Given the description of an element on the screen output the (x, y) to click on. 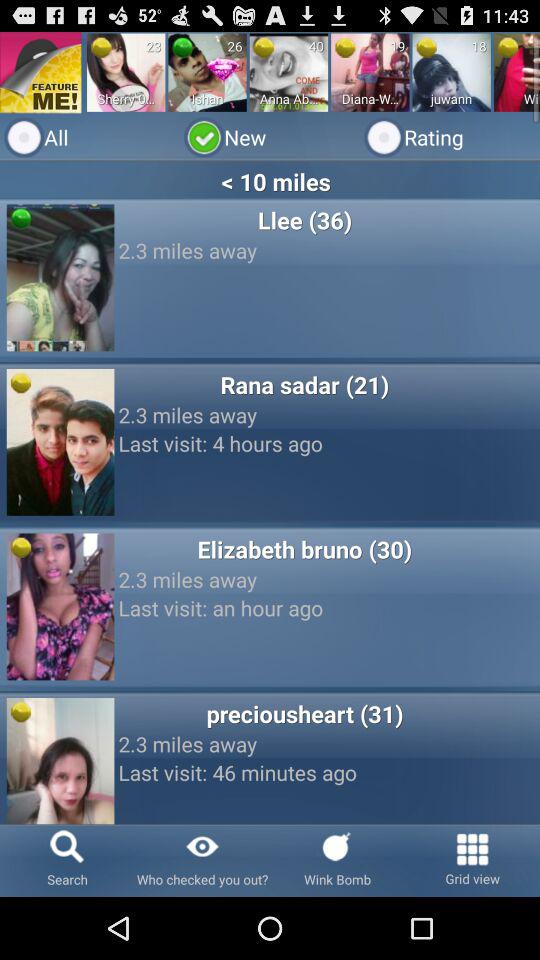
turn on item below all radio button (270, 181)
